Given the description of an element on the screen output the (x, y) to click on. 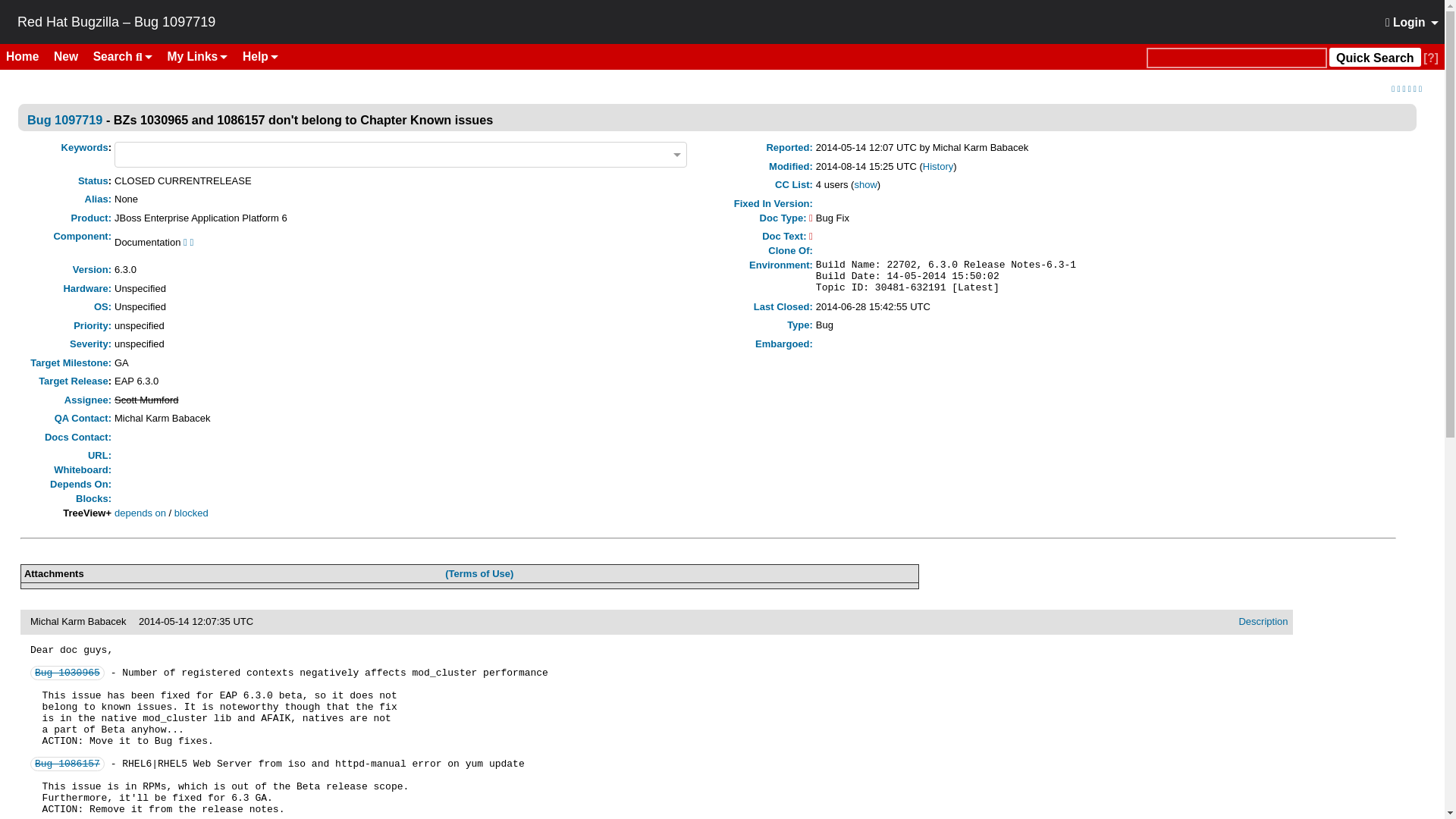
Search (122, 56)
Quick Search (1375, 56)
My Links (197, 56)
New (72, 56)
Help (259, 56)
Home (28, 56)
Quick Search (1236, 57)
